Given the description of an element on the screen output the (x, y) to click on. 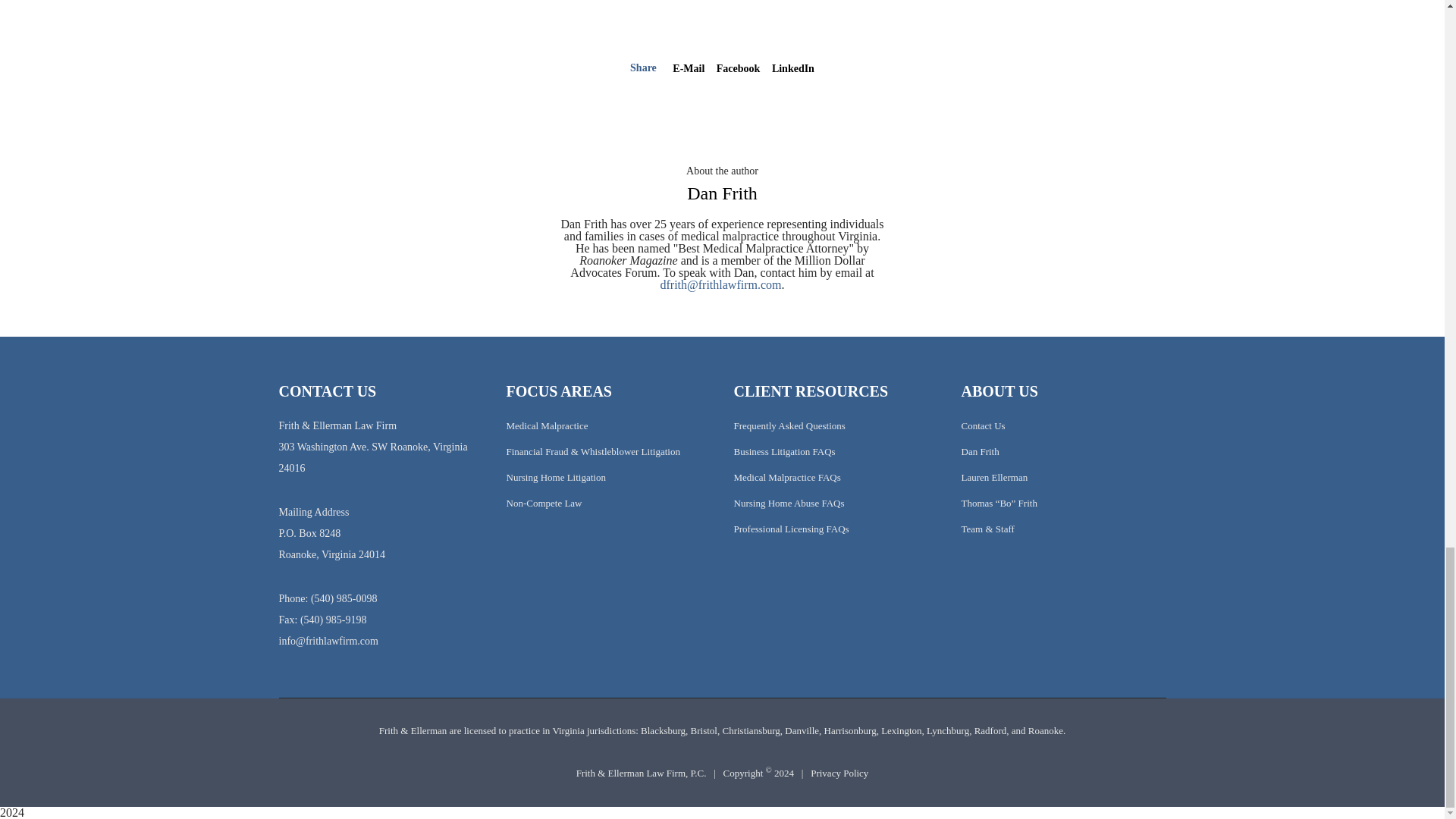
Nursing Home Litigation (555, 477)
Facebook (738, 68)
Medical Malpractice (547, 425)
Non-Compete Law (544, 502)
E-Mail (688, 68)
Dan Frith (721, 192)
LinkedIn (792, 68)
